Given the description of an element on the screen output the (x, y) to click on. 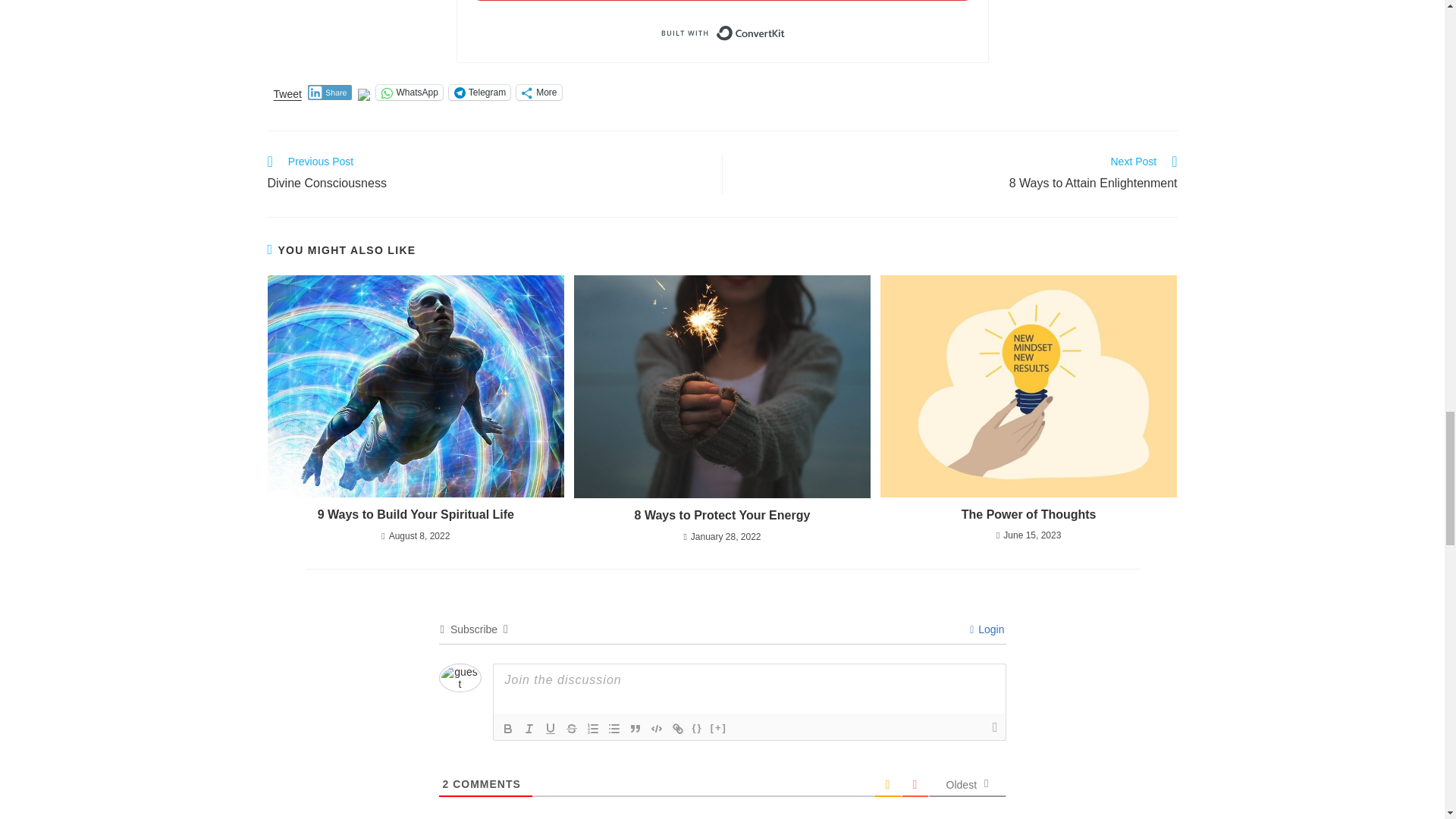
Click to share on Telegram (479, 92)
Telegram (479, 92)
More (538, 92)
Click to share on WhatsApp (408, 92)
Tweet (287, 91)
WhatsApp (408, 92)
Built with ConvertKit (722, 32)
Share (329, 92)
Italic (529, 728)
Bold (507, 728)
